Given the description of an element on the screen output the (x, y) to click on. 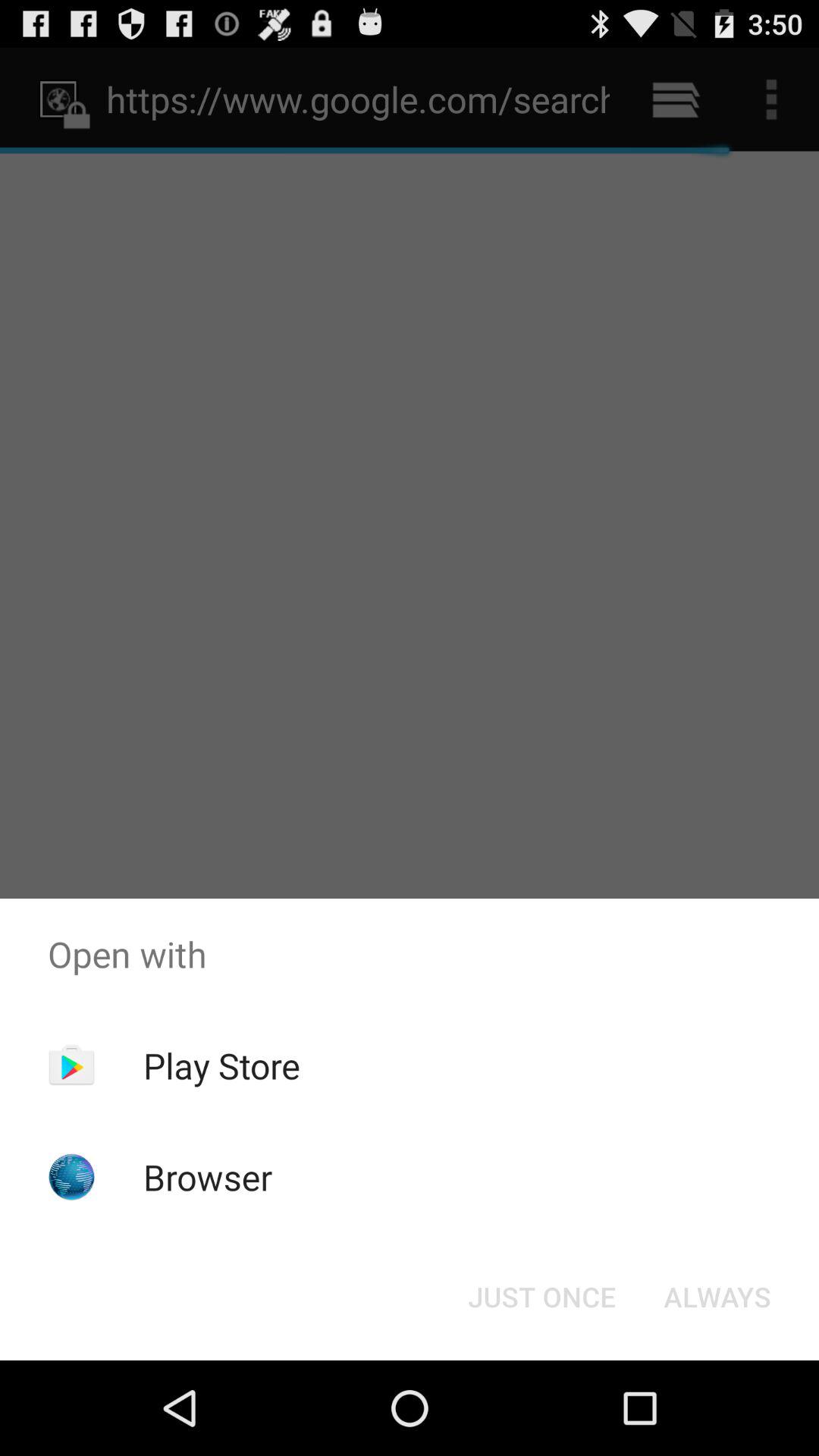
select the app below open with app (221, 1065)
